Given the description of an element on the screen output the (x, y) to click on. 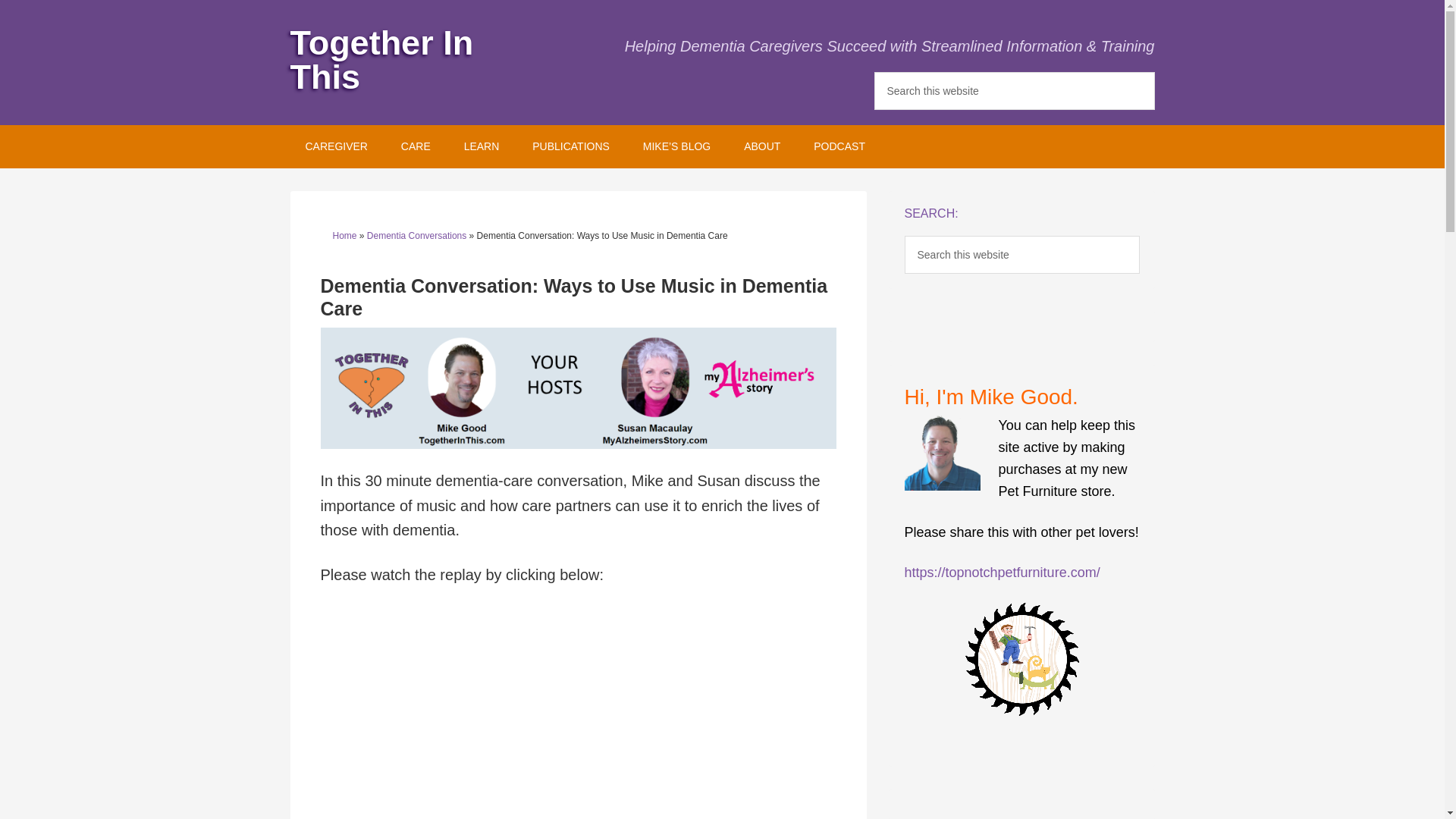
Maximizing patient safety and well-being (415, 146)
Together In This (381, 59)
CAREGIVER (335, 146)
CARE (415, 146)
Editorial and special interest articles by Mike (676, 146)
LEARN (481, 146)
